Given the description of an element on the screen output the (x, y) to click on. 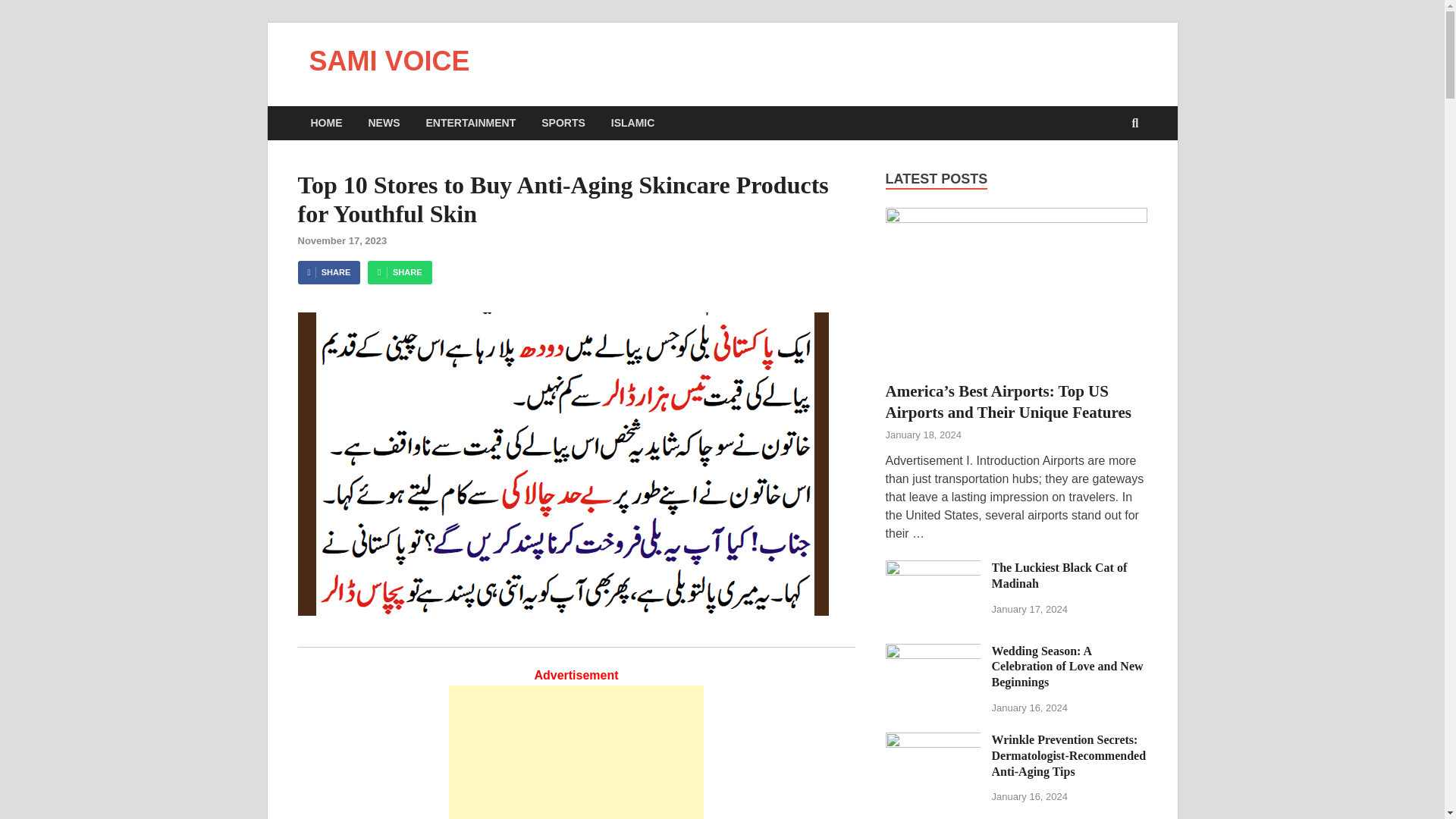
SHARE (328, 272)
Wedding Season: A Celebration of Love and New Beginnings (1066, 666)
The Luckiest Black Cat of Madinah (932, 568)
The Luckiest Black Cat of Madinah (1058, 575)
SAMI VOICE (389, 60)
Wedding Season: A Celebration of Love and New Beginnings (932, 652)
November 17, 2023 (342, 240)
NEWS (383, 123)
SPORTS (563, 123)
ENTERTAINMENT (470, 123)
January 18, 2024 (922, 434)
HOME (326, 123)
ISLAMIC (633, 123)
